Given the description of an element on the screen output the (x, y) to click on. 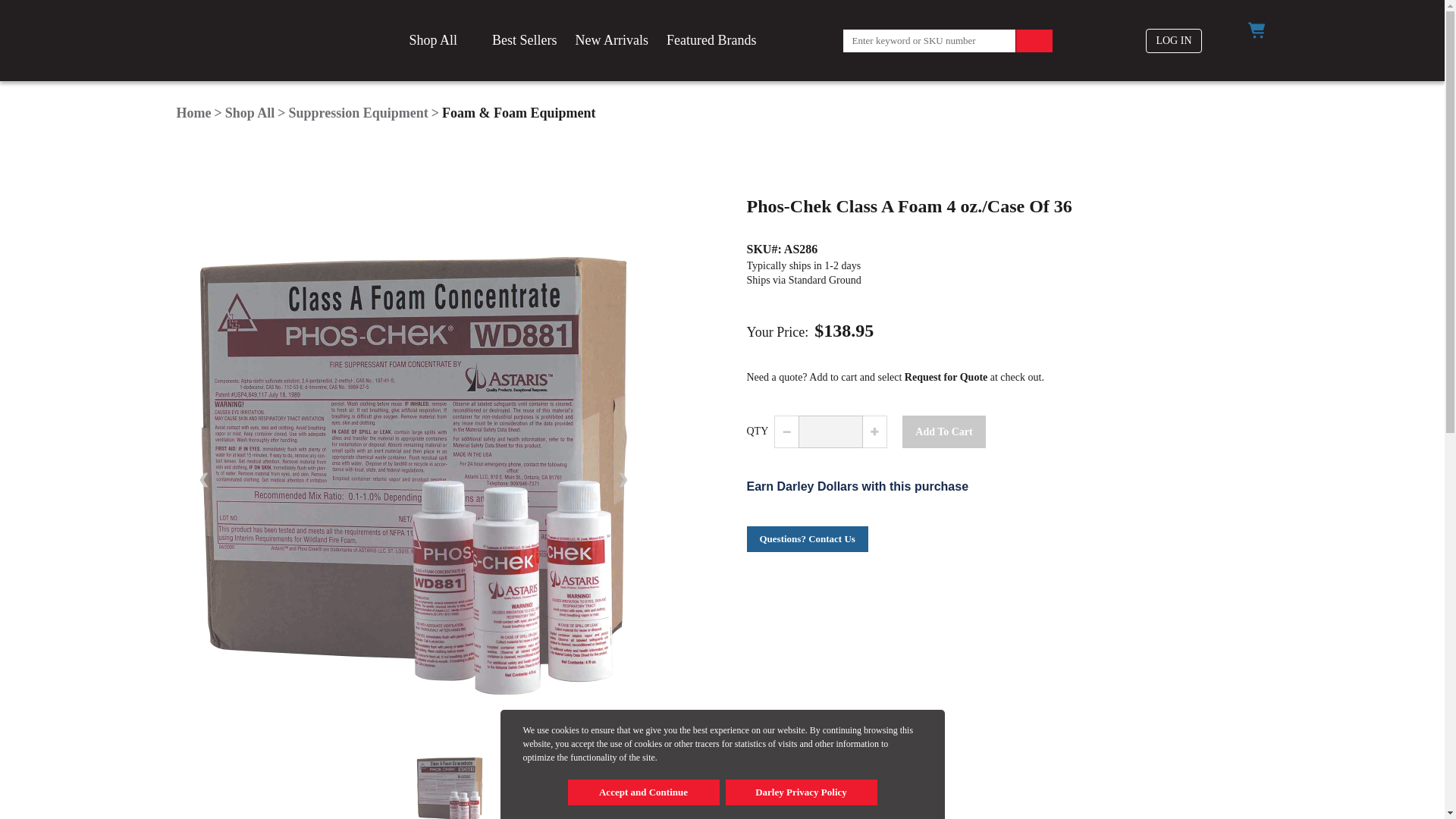
Best Sellers (524, 40)
Add To Cart (943, 431)
Suppression Equipment (358, 112)
New Arrivals (612, 40)
Click to open the "Shopping Cart" (1255, 30)
LOG IN (1173, 40)
Featured Brands (711, 40)
Featured Brands (711, 40)
Home (193, 112)
Shop All (250, 112)
New Arrivals (612, 40)
Darley Privacy Policy (800, 792)
Best Sellers (524, 40)
Questions? Contact Us (806, 539)
Shop All (441, 40)
